Given the description of an element on the screen output the (x, y) to click on. 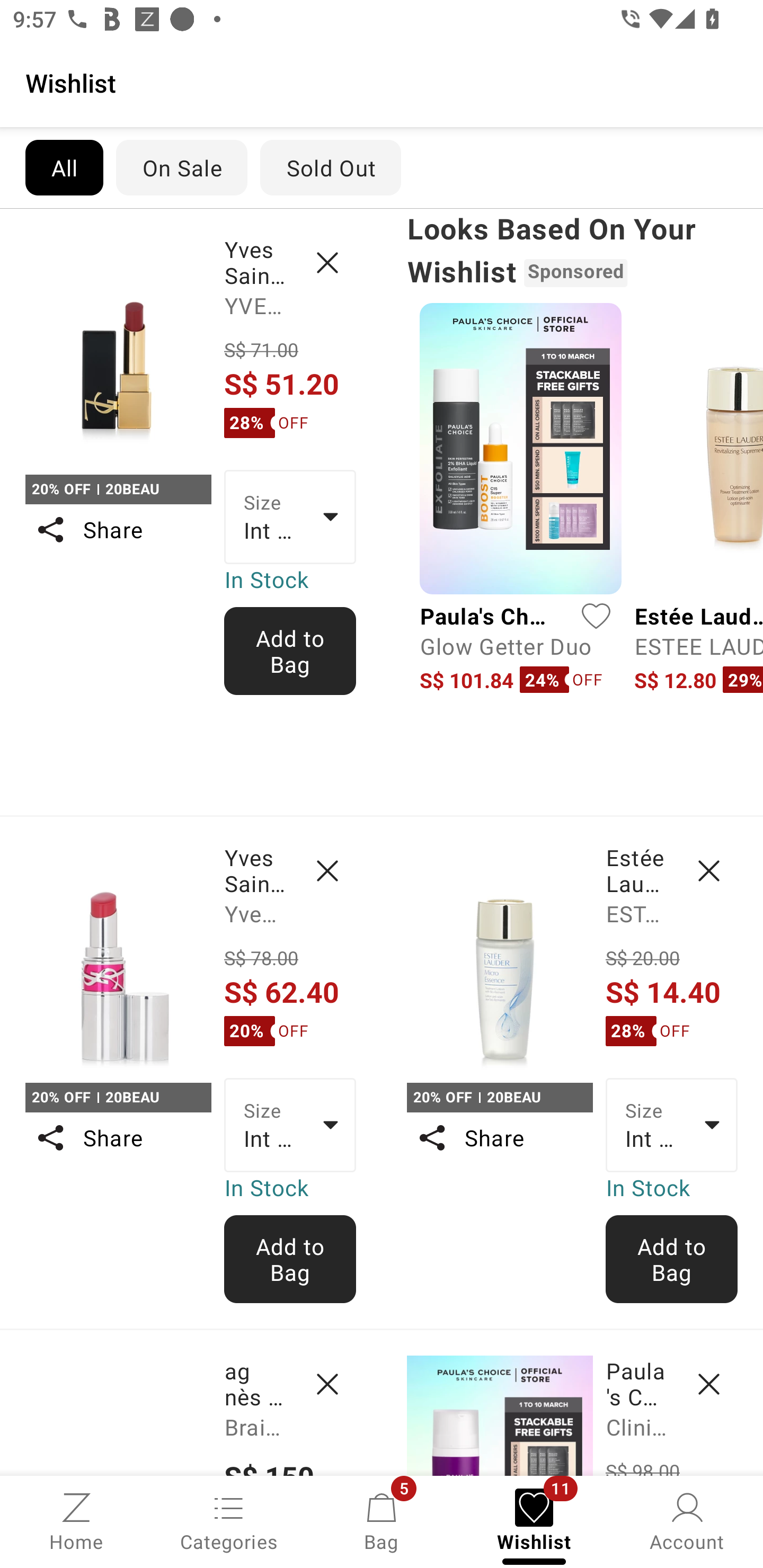
Wishlist (381, 82)
All (64, 167)
On Sale (181, 167)
Sold Out (330, 167)
Size Int One Size (290, 517)
Share (118, 529)
Add to Bag (290, 650)
Size Int One Size (290, 1125)
Size Int One Size (671, 1125)
Share (118, 1137)
Share (499, 1137)
Add to Bag (290, 1259)
Add to Bag (671, 1259)
Home (76, 1519)
Categories (228, 1519)
Bag, 5 new notifications Bag (381, 1519)
Account (686, 1519)
